Given the description of an element on the screen output the (x, y) to click on. 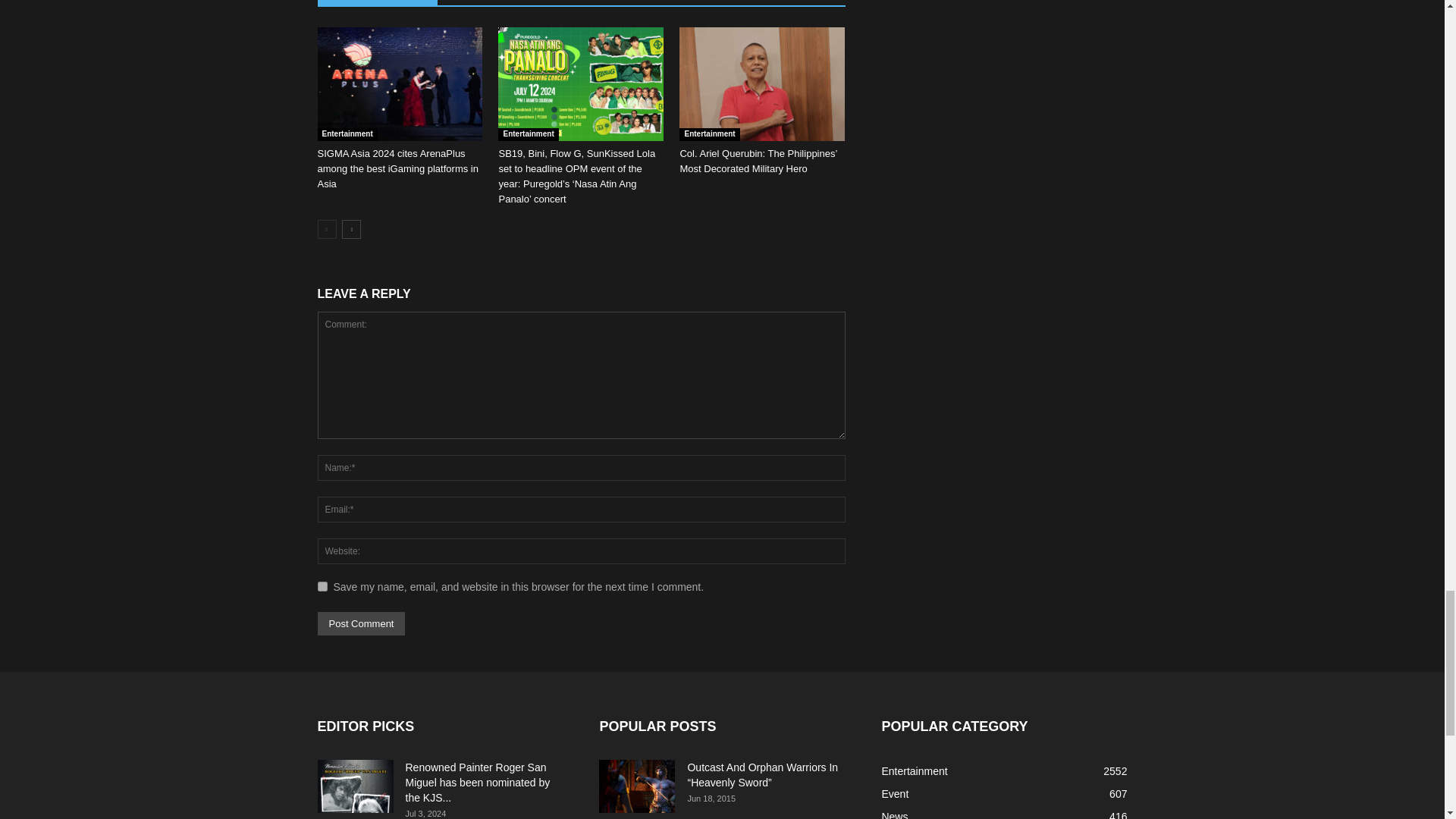
Post Comment (360, 623)
yes (321, 586)
